Given the description of an element on the screen output the (x, y) to click on. 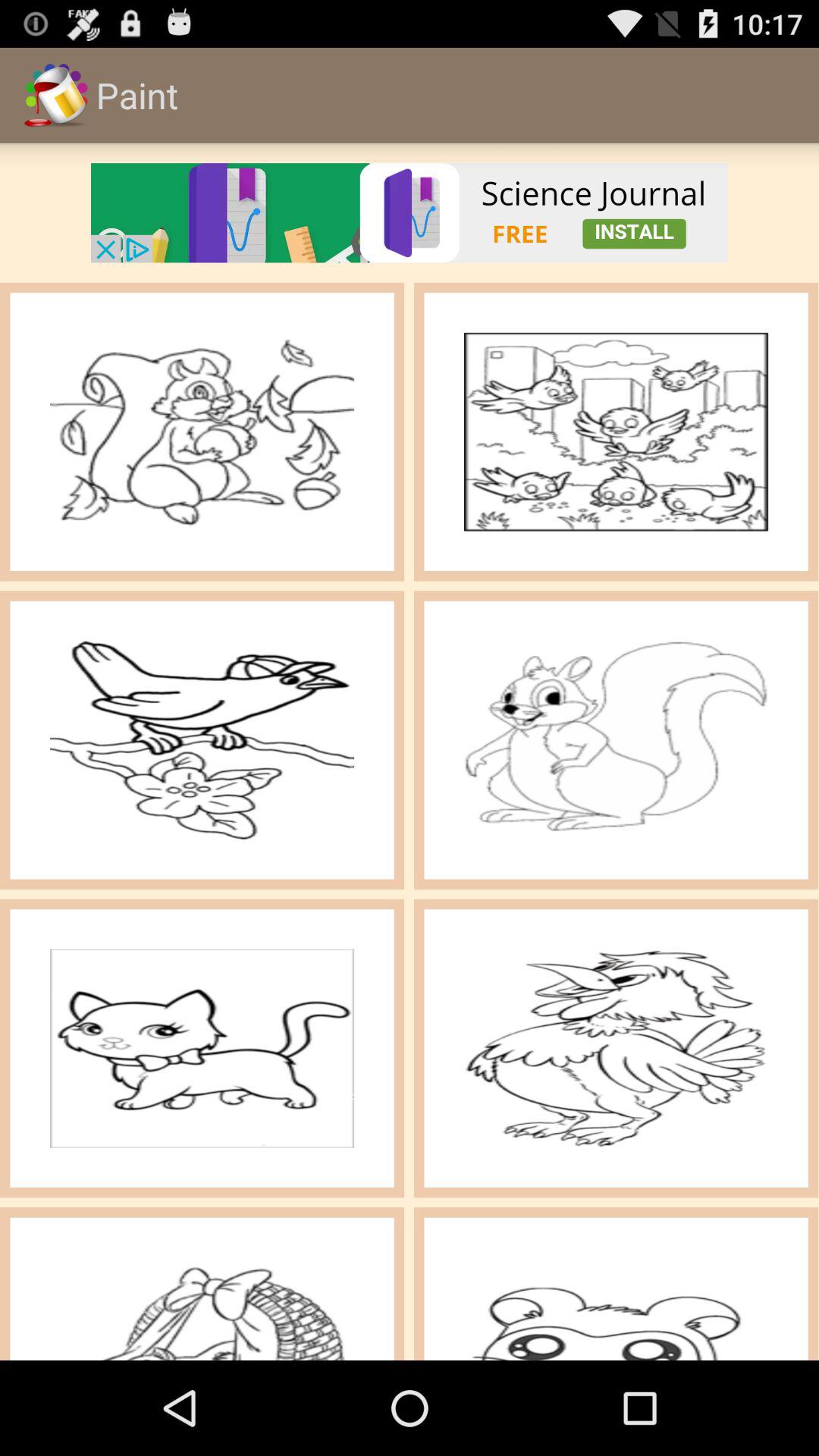
details about advertisement (409, 212)
